Given the description of an element on the screen output the (x, y) to click on. 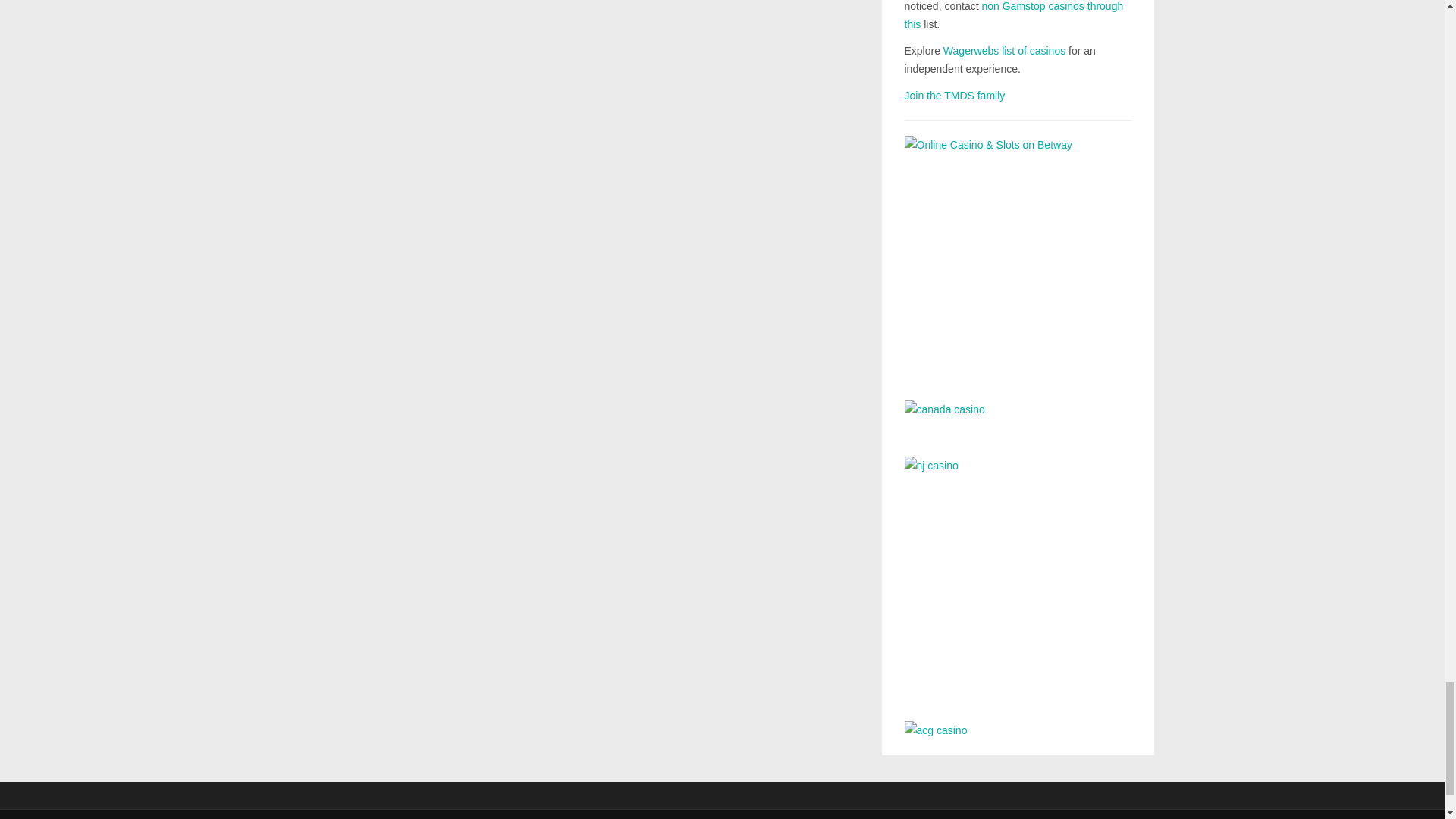
nj casino (1017, 577)
canada casino (1017, 417)
acg casino (1017, 730)
